Given the description of an element on the screen output the (x, y) to click on. 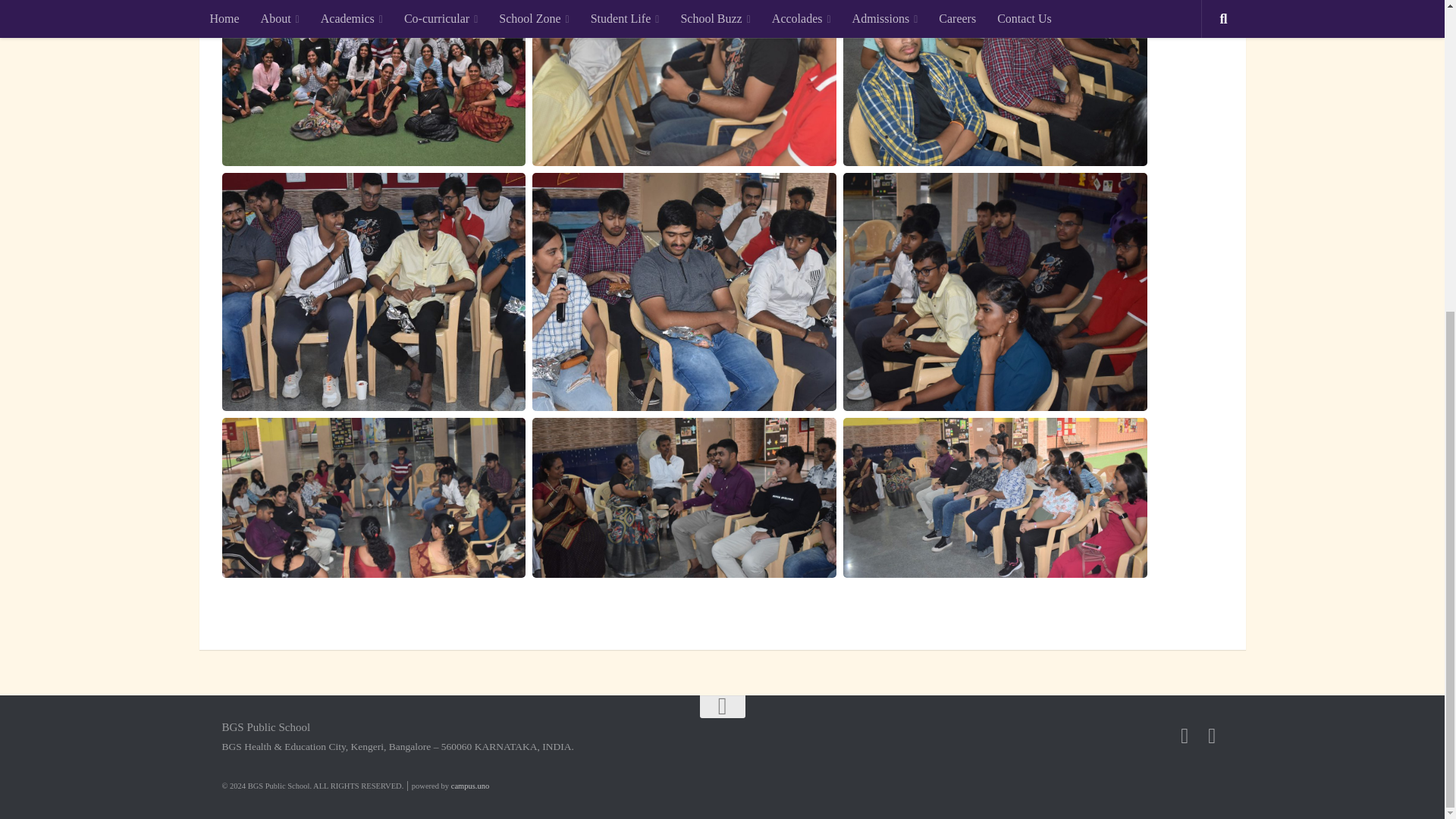
Follow us on Instagram (1212, 735)
